Given the description of an element on the screen output the (x, y) to click on. 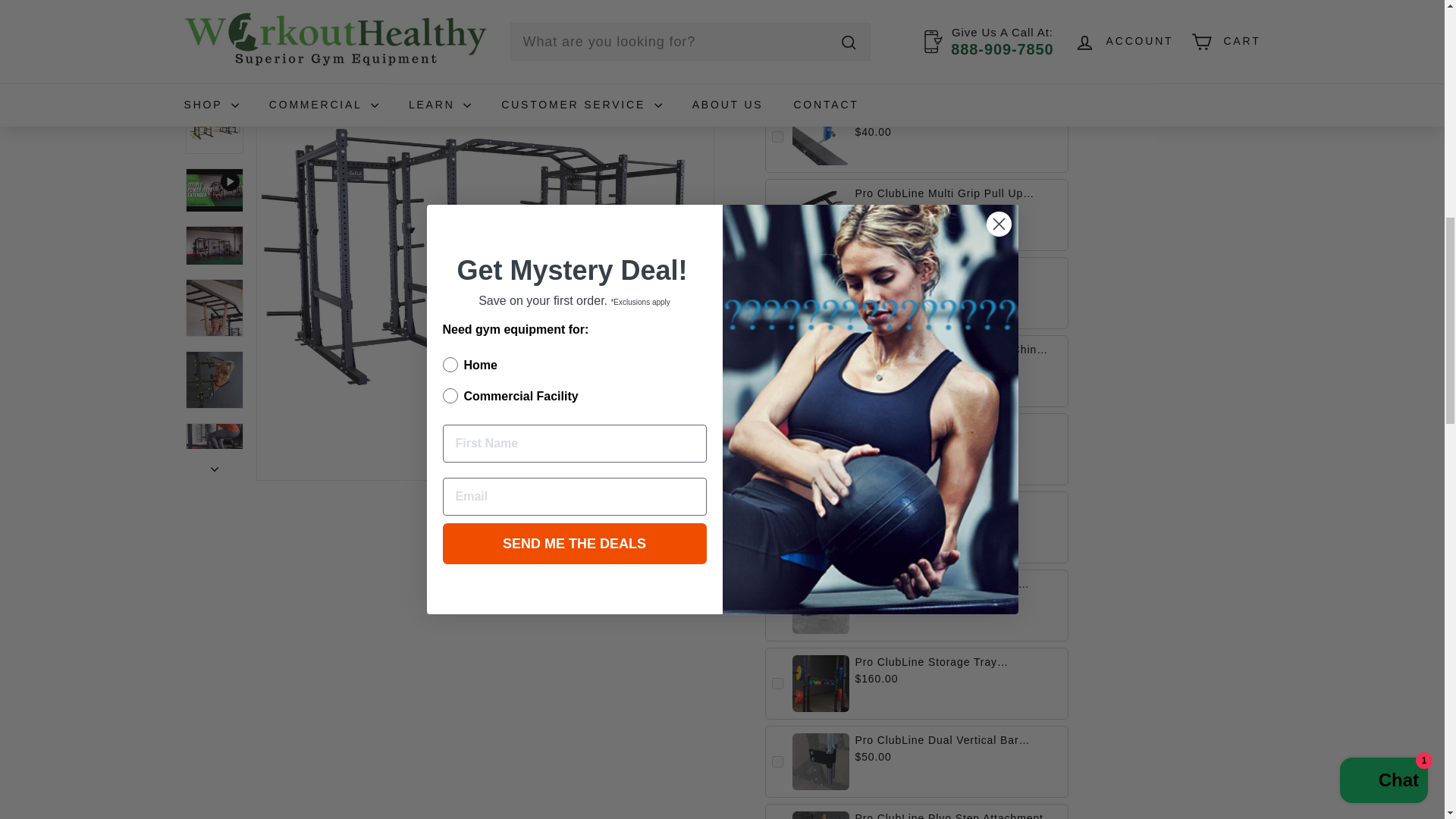
on (777, 761)
on (777, 370)
on (777, 292)
on (777, 136)
on (777, 604)
on (777, 214)
on (777, 527)
on (777, 449)
on (777, 58)
on (777, 683)
